Given the description of an element on the screen output the (x, y) to click on. 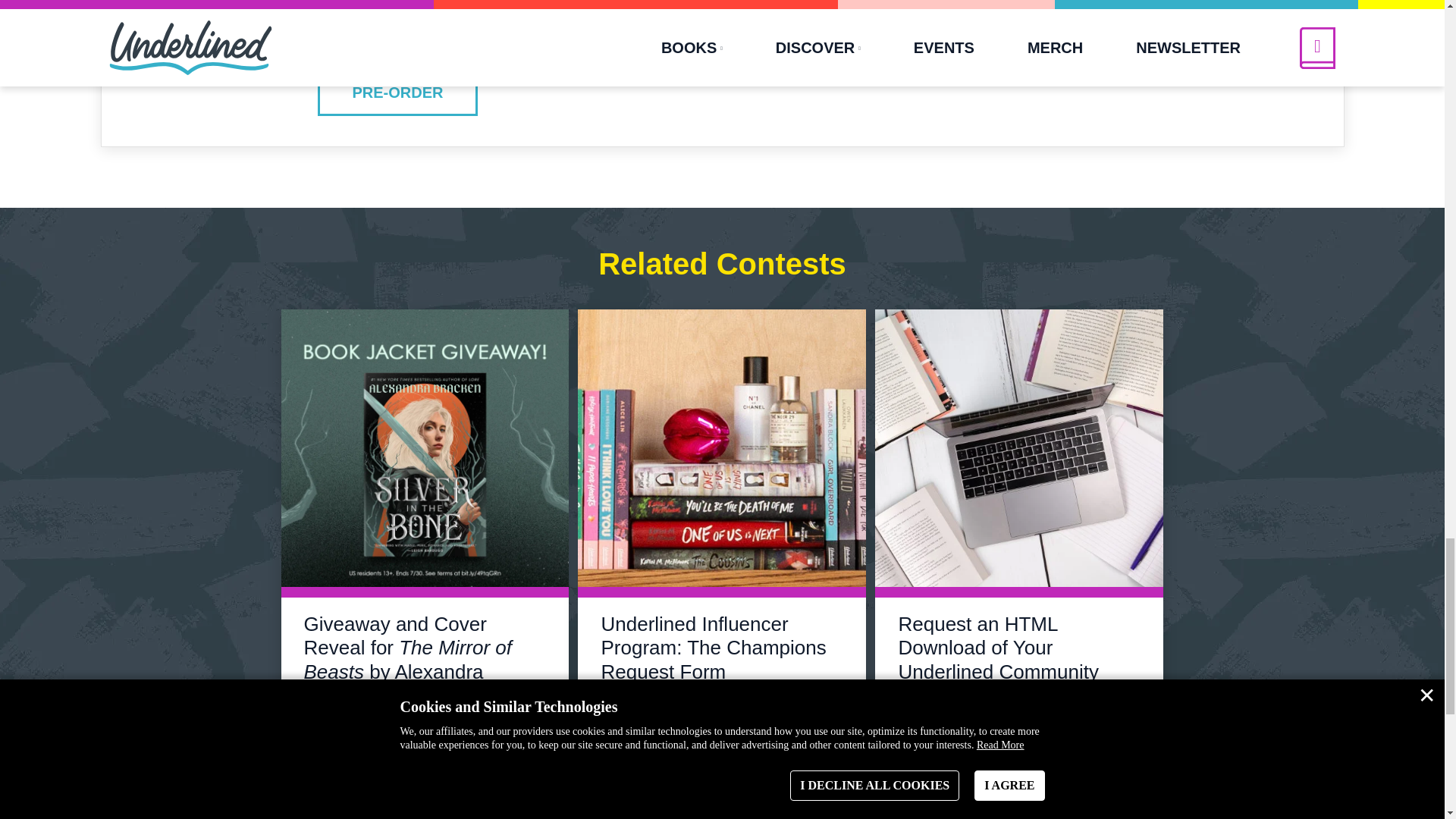
PRE-ORDER (397, 92)
Underlined Influencer Program: The Champions Request Form (712, 647)
